Given the description of an element on the screen output the (x, y) to click on. 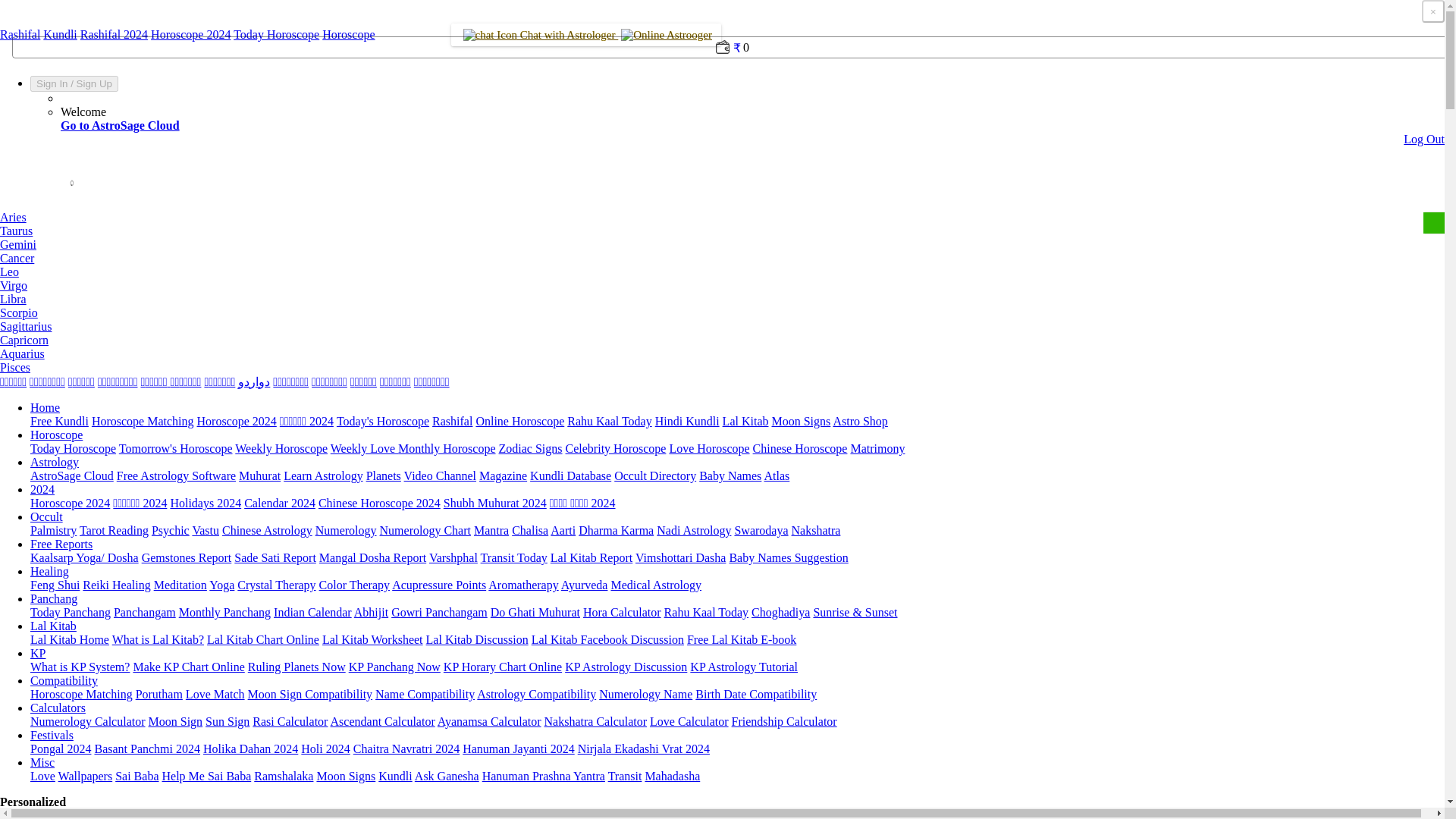
Urdu (253, 381)
Chat with Astrologer (585, 34)
Hindi (290, 381)
Go to AstroSage Cloud (120, 124)
Horoscope 2024 (190, 33)
Malayalam (218, 381)
Libra (13, 298)
www.AstroSage.com: Vedic Astrology (18, 20)
Log Out (1423, 138)
Aries (13, 216)
Taurus (16, 230)
Rashifal 2024 (114, 33)
Nepali (329, 381)
Sign In (52, 83)
Tamil (13, 381)
